Given the description of an element on the screen output the (x, y) to click on. 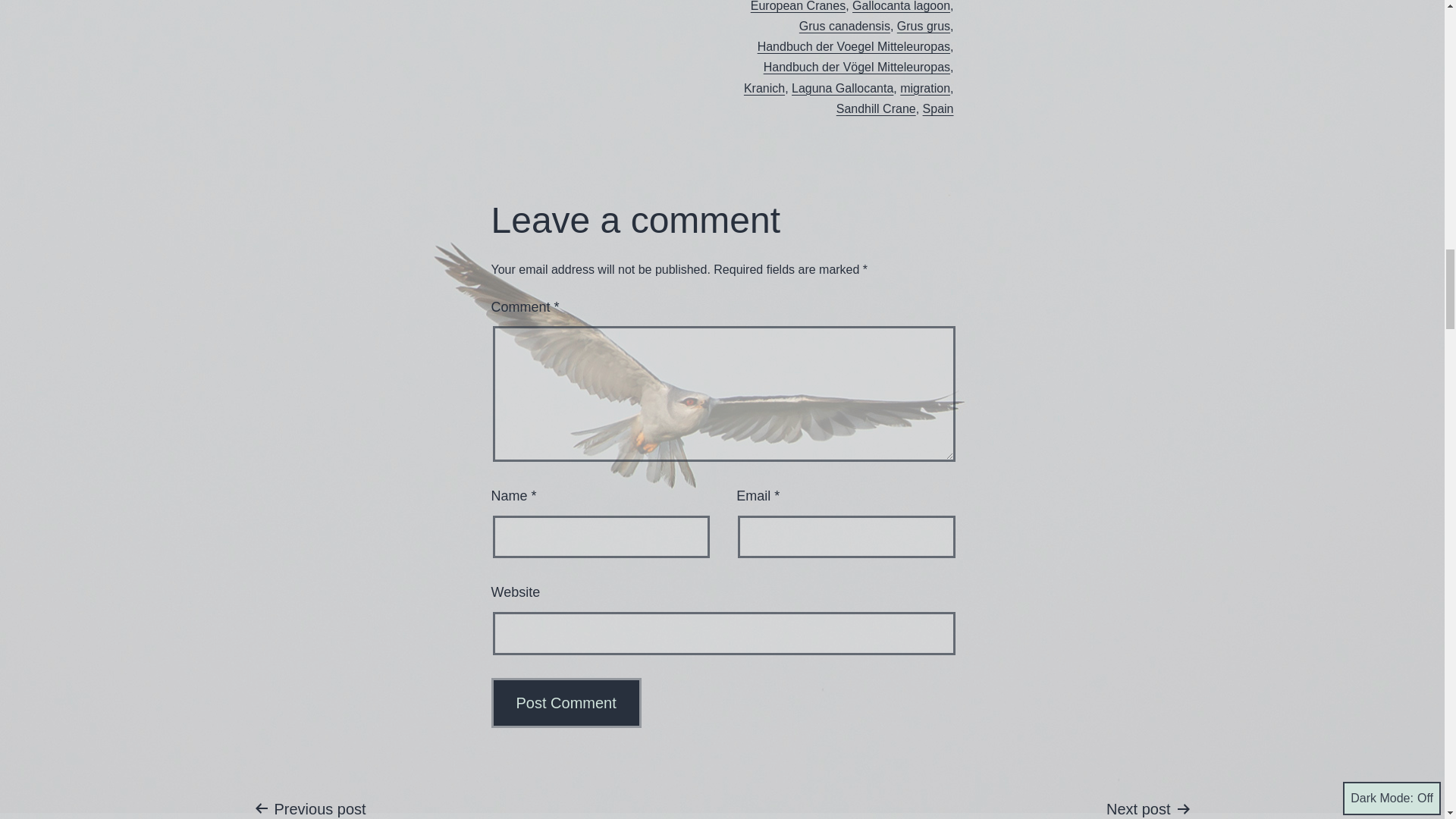
Post Comment (567, 703)
